Given the description of an element on the screen output the (x, y) to click on. 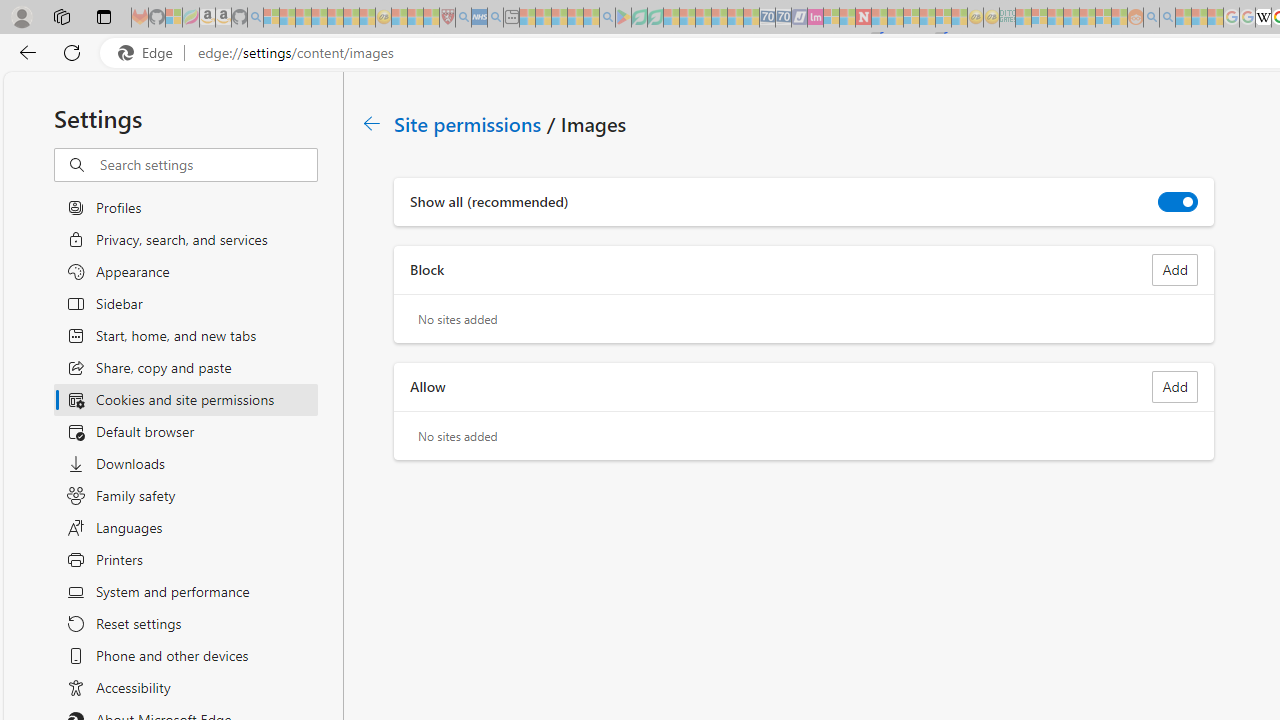
utah sues federal government - Search - Sleeping (495, 17)
Add site to Block list (1175, 269)
